Given the description of an element on the screen output the (x, y) to click on. 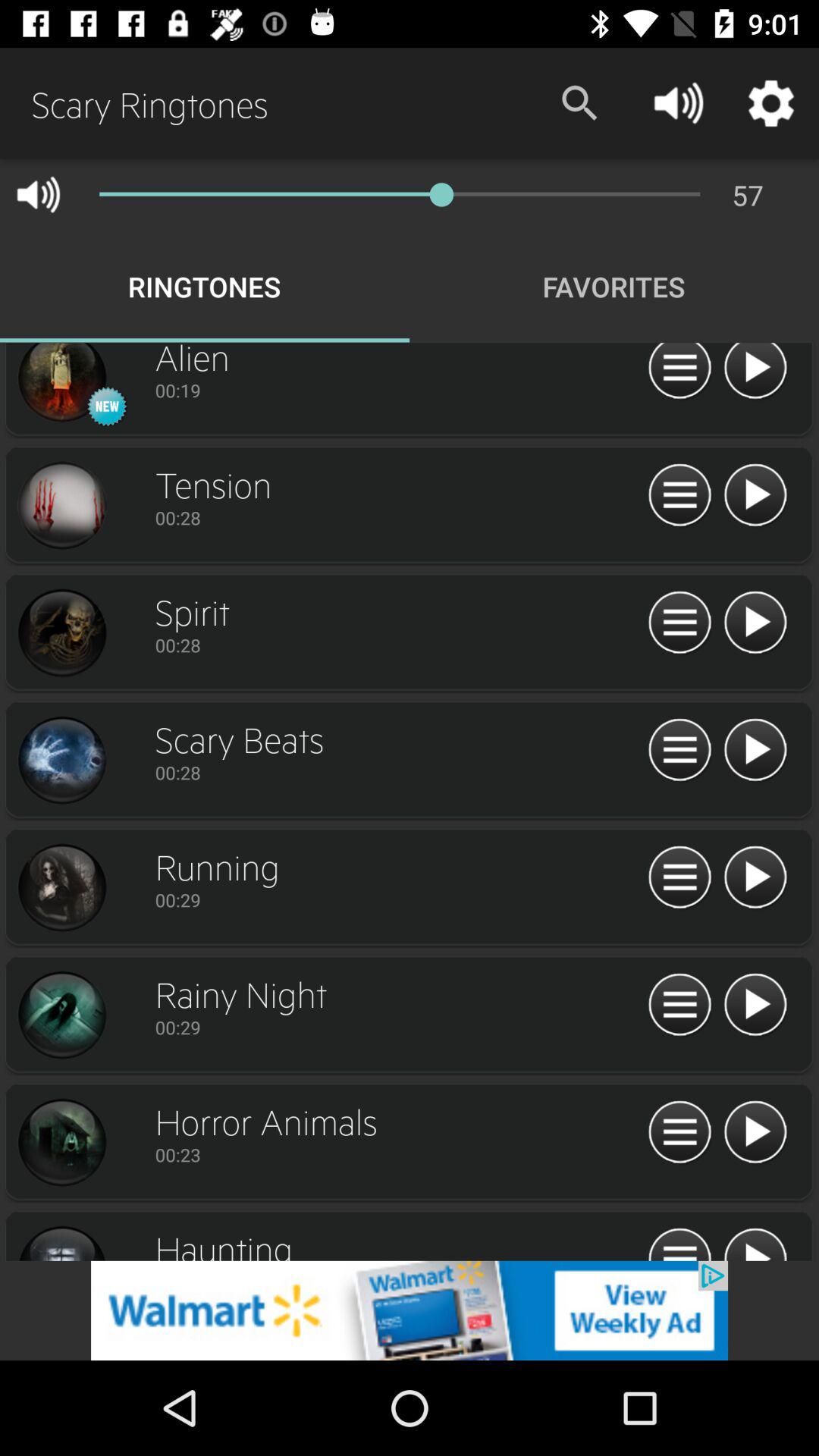
go to home (679, 623)
